Given the description of an element on the screen output the (x, y) to click on. 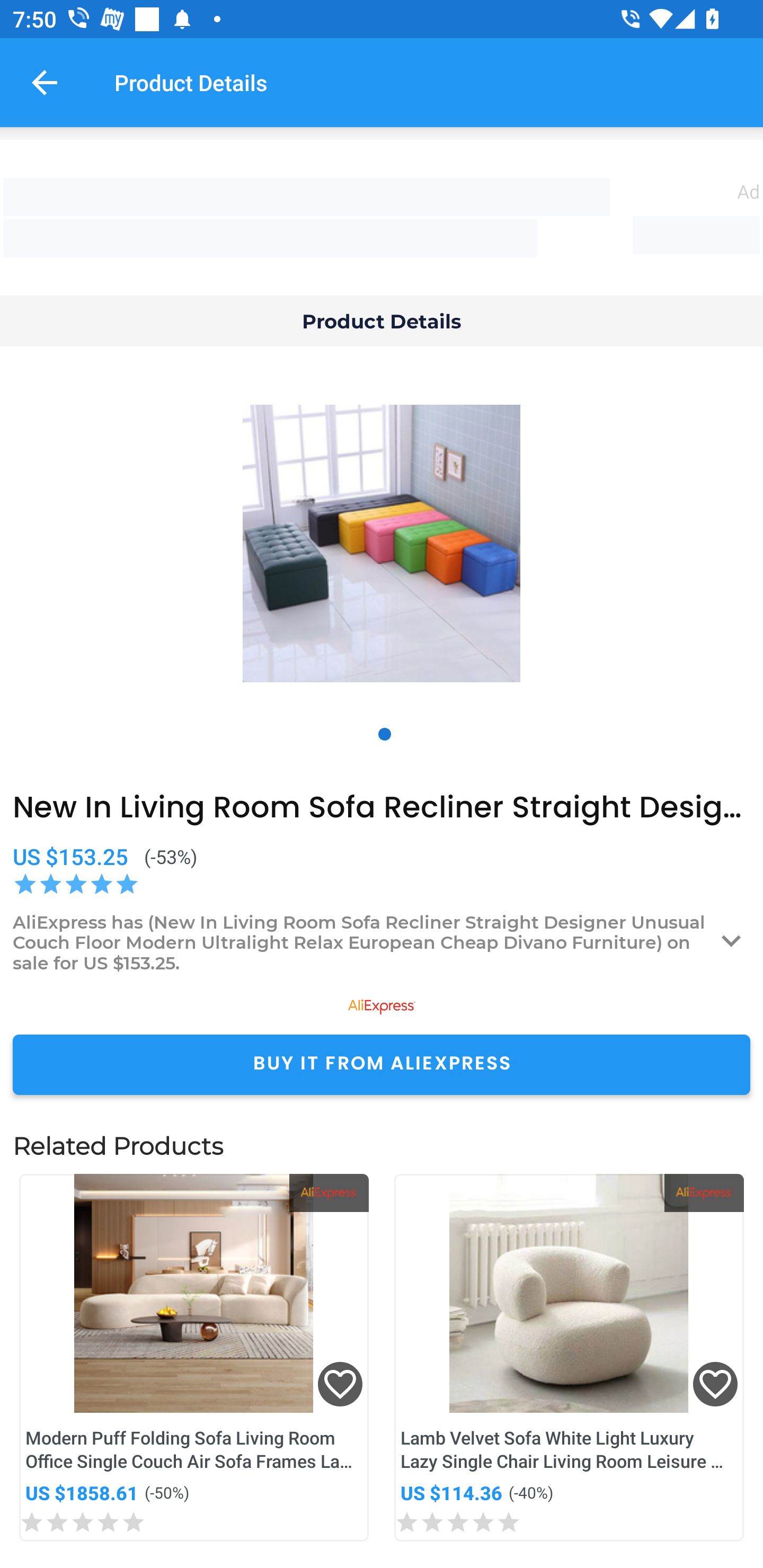
Navigate up (44, 82)
BUY IT FROM ALIEXPRESS (381, 1064)
